Given the description of an element on the screen output the (x, y) to click on. 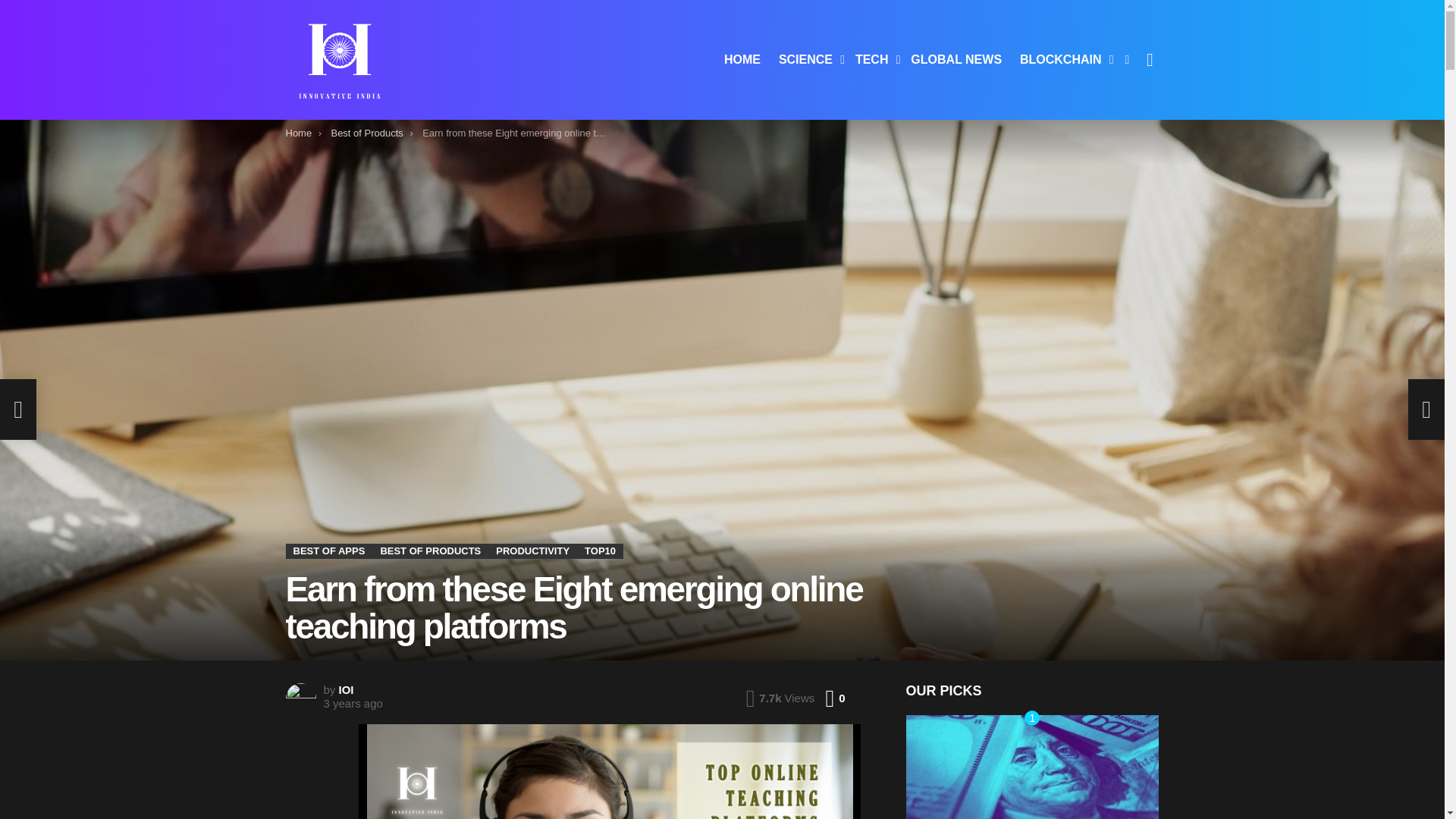
BEST OF APPS (328, 550)
TECH (874, 59)
SCIENCE (807, 59)
FOLLOW US (1126, 59)
Home (298, 132)
IOI (346, 689)
BLOCKCHAIN (1062, 59)
GLOBAL NEWS (955, 59)
TOP10 (834, 698)
Best of Products (599, 550)
SEARCH (366, 132)
BEST OF PRODUCTS (1149, 60)
Posts by IOI (429, 550)
May 9, 2021, 11:02 pm (346, 689)
